Given the description of an element on the screen output the (x, y) to click on. 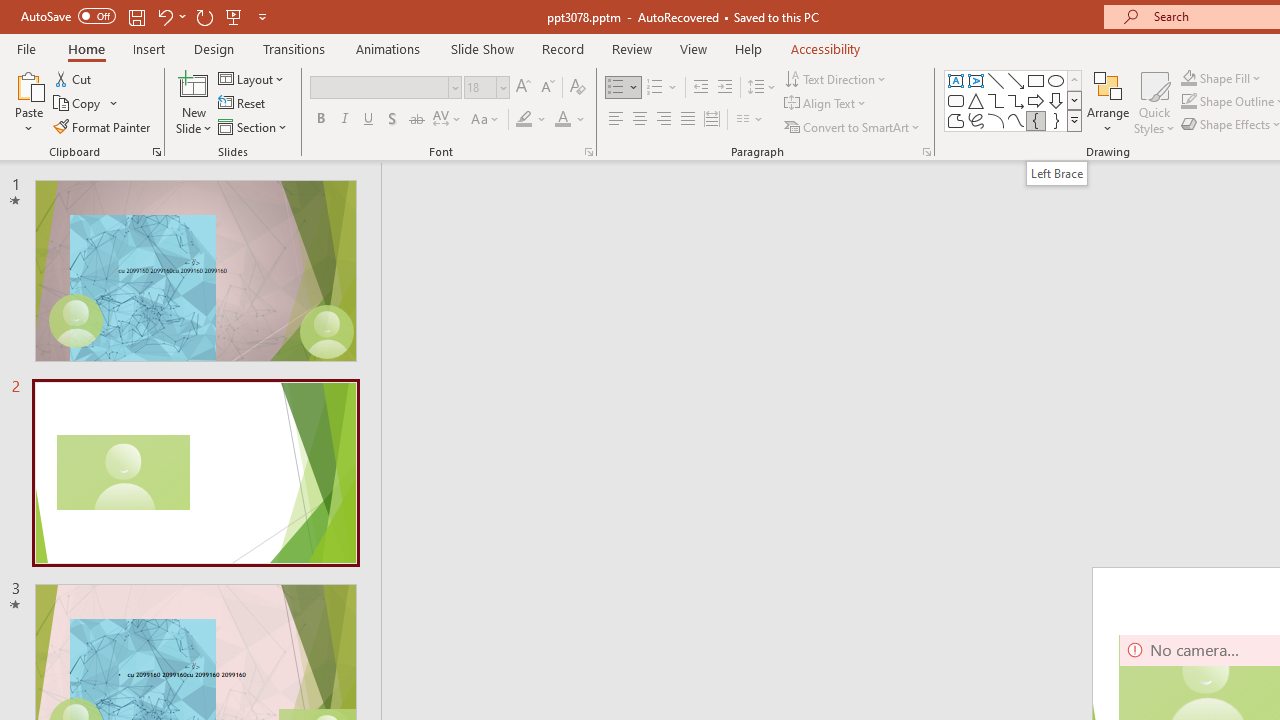
Paste (28, 102)
Shadow (392, 119)
Row up (1074, 79)
Copy (78, 103)
Shapes (1074, 120)
Font (379, 87)
Oval (1055, 80)
Shape Fill Dark Green, Accent 2 (1188, 78)
Shape Outline Green, Accent 1 (1188, 101)
Align Left (616, 119)
Text Direction (836, 78)
